Given the description of an element on the screen output the (x, y) to click on. 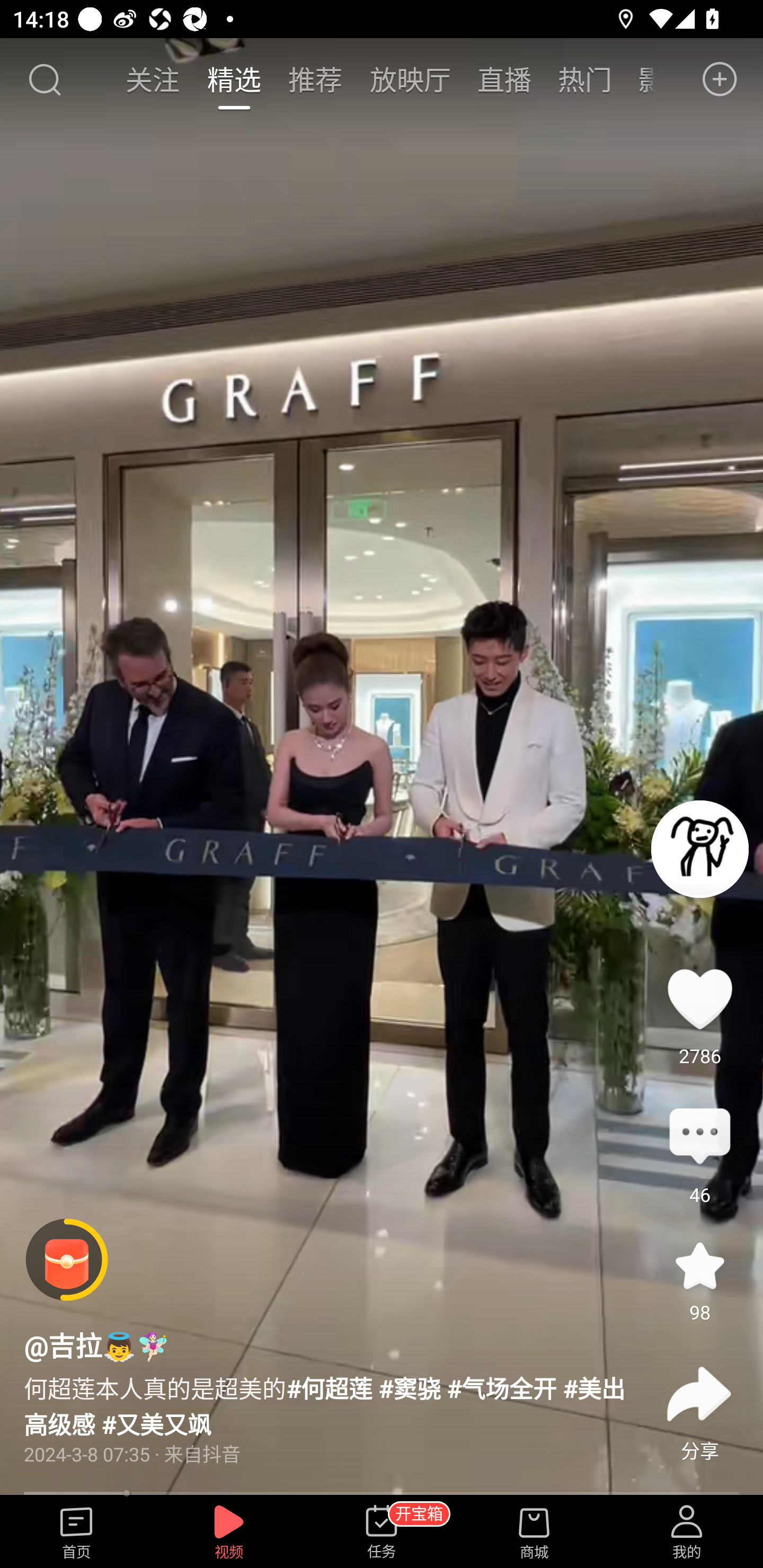
关注 (153, 79)
精选 (233, 79)
推荐 (315, 79)
放映厅 (409, 79)
直播 (504, 79)
热门 (584, 79)
搜索 (44, 79)
发布 (720, 79)
头像 (699, 848)
点赞2786 2786 (699, 998)
评论46 评论 46 (699, 1137)
收藏 98 (699, 1265)
阅读赚金币 (66, 1259)
分享 (699, 1393)
@吉拉👼🧚🏻‍♀️ (96, 1344)
首页 (76, 1532)
视频 (228, 1532)
任务 开宝箱 (381, 1532)
商城 (533, 1532)
我的 (686, 1532)
